Given the description of an element on the screen output the (x, y) to click on. 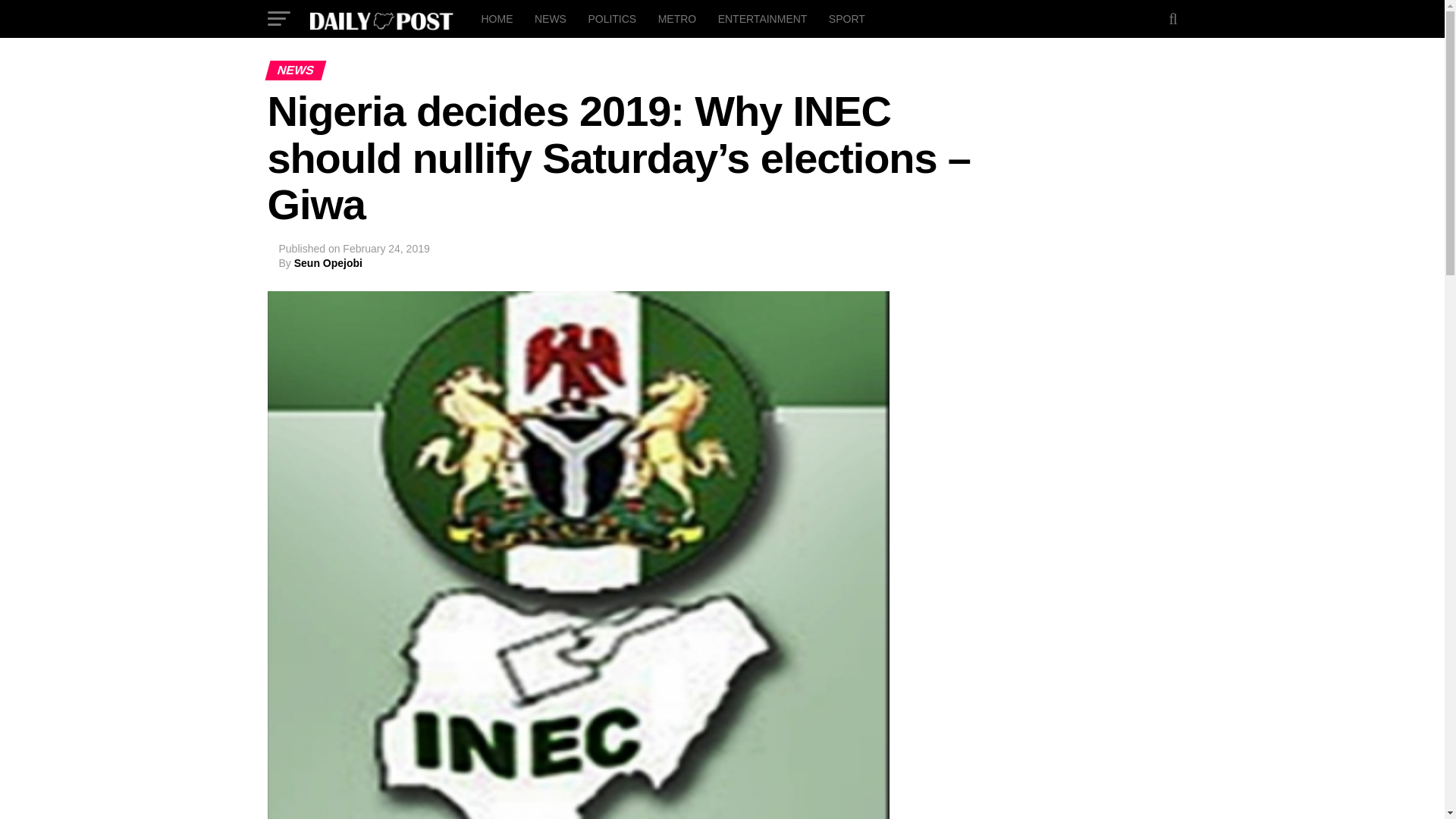
SPORT (847, 18)
HOME (496, 18)
Seun Opejobi (328, 263)
ENTERTAINMENT (762, 18)
POLITICS (611, 18)
METRO (677, 18)
NEWS (550, 18)
Posts by Seun Opejobi (328, 263)
